Given the description of an element on the screen output the (x, y) to click on. 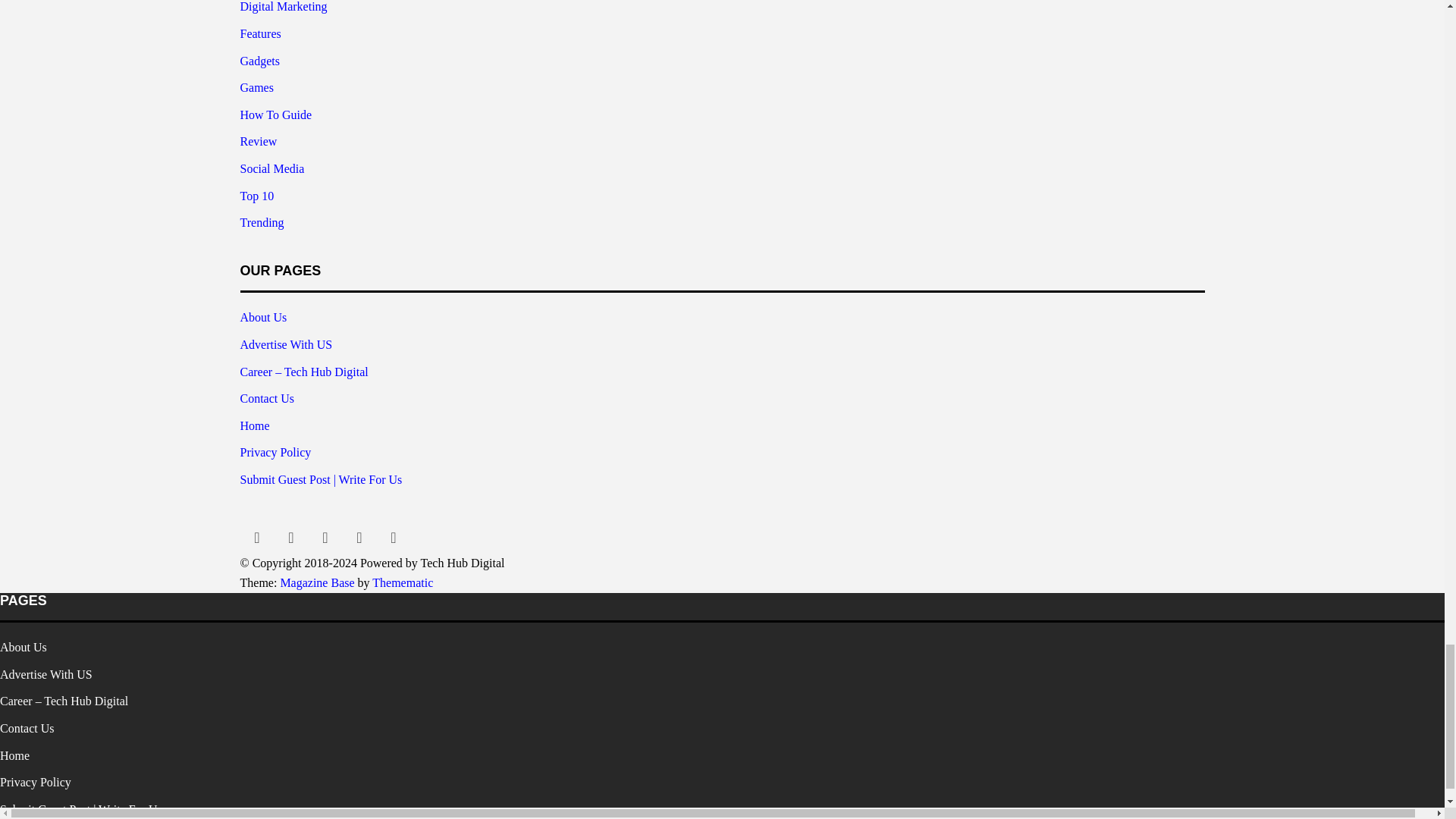
Features (260, 33)
Gadgets (259, 60)
Digital Marketing (283, 6)
Games (256, 87)
